Given the description of an element on the screen output the (x, y) to click on. 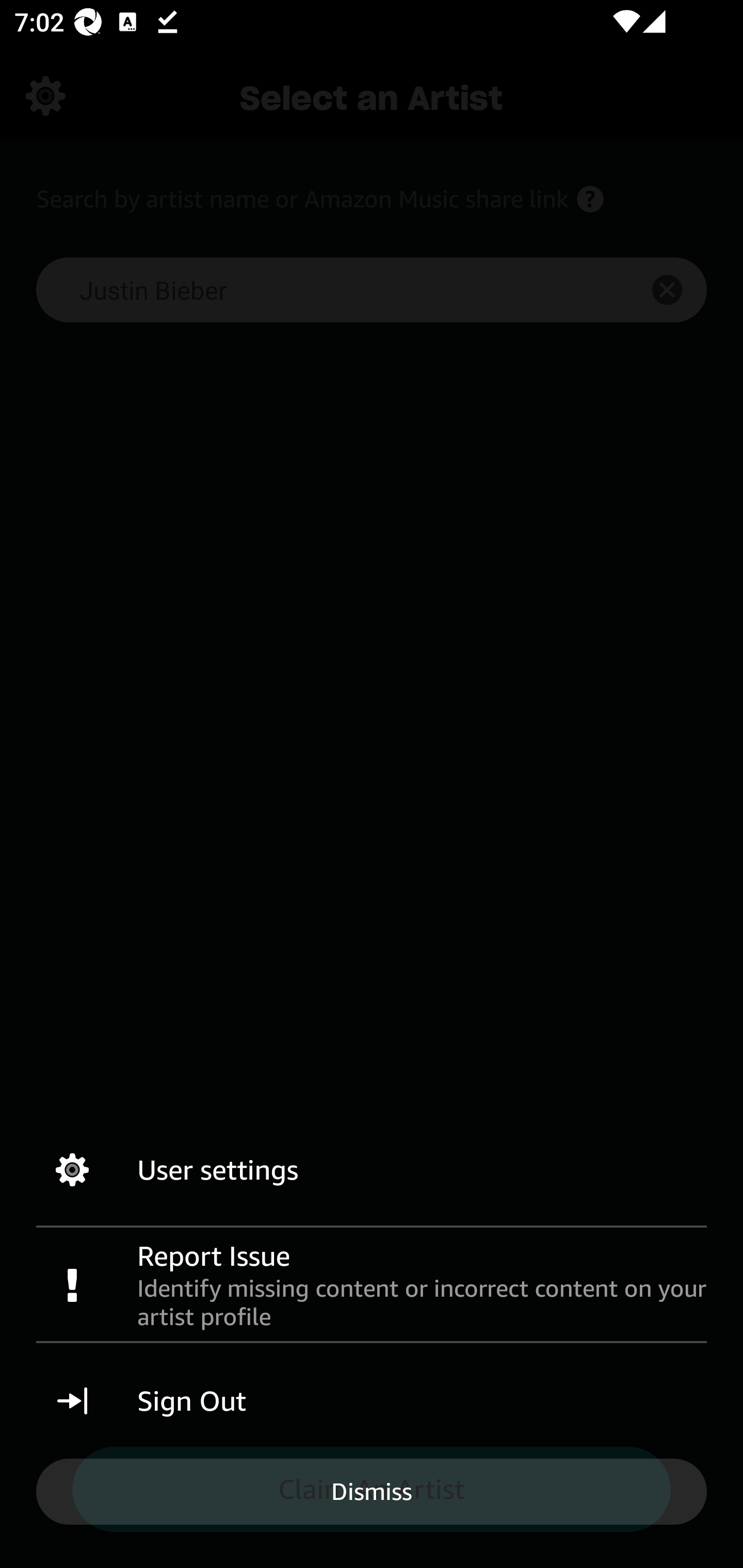
User settings  icon User settings User settings (371, 1169)
Sign Out  icon Sign Out Sign Out (371, 1400)
Dismiss button Dismiss (371, 1491)
